Given the description of an element on the screen output the (x, y) to click on. 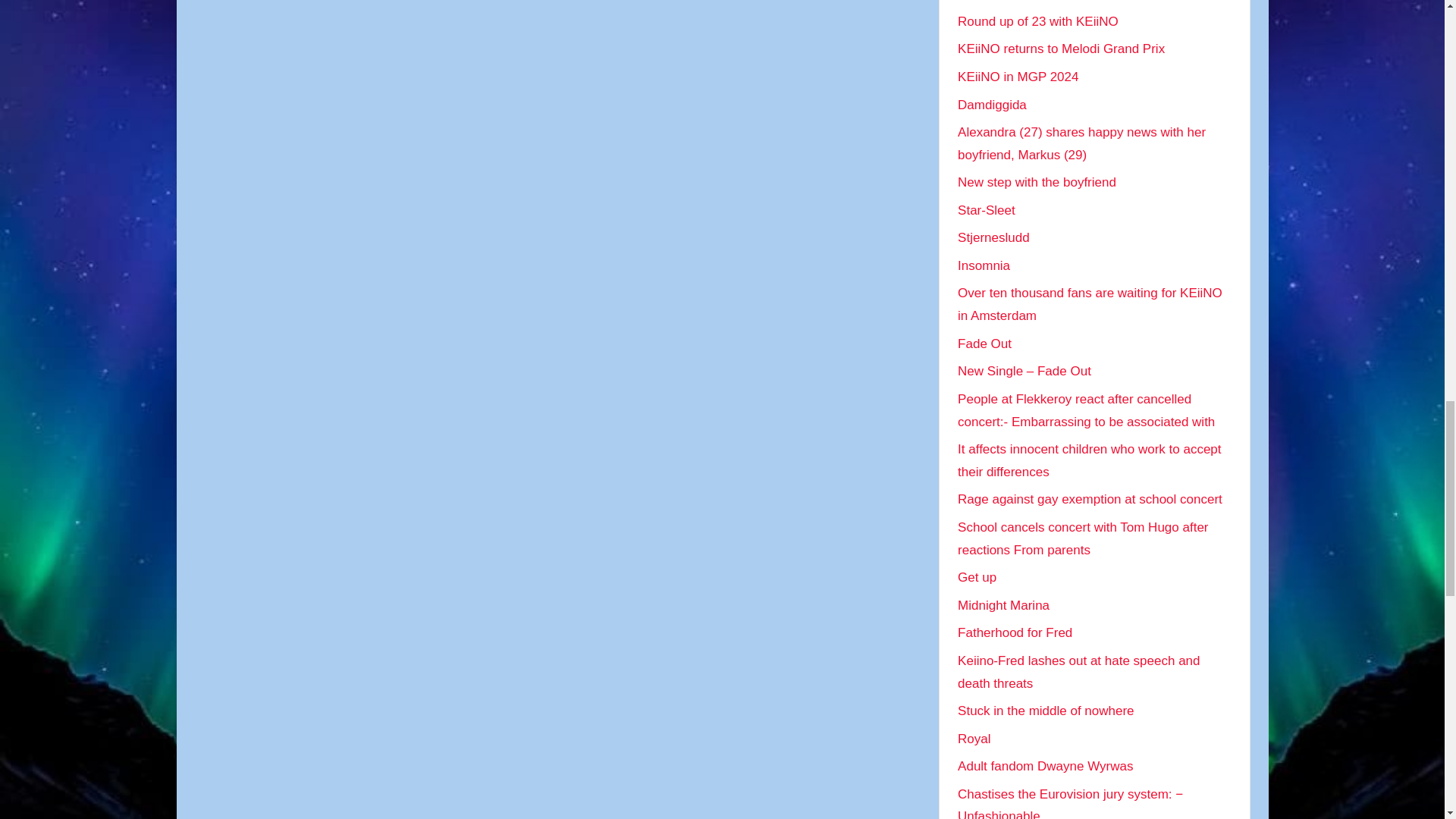
Insomnia (984, 265)
Damdiggida (992, 104)
Star-Sleet (986, 210)
Over ten thousand fans are waiting for KEiiNO in Amsterdam (1090, 303)
KEiiNO in MGP 2024 (1018, 76)
Hero, Baby (990, 0)
KEiiNO returns to Melodi Grand Prix (1061, 48)
Stjernesludd (993, 237)
Fade Out (984, 343)
Round up of 23 with KEiiNO (1038, 21)
